Given the description of an element on the screen output the (x, y) to click on. 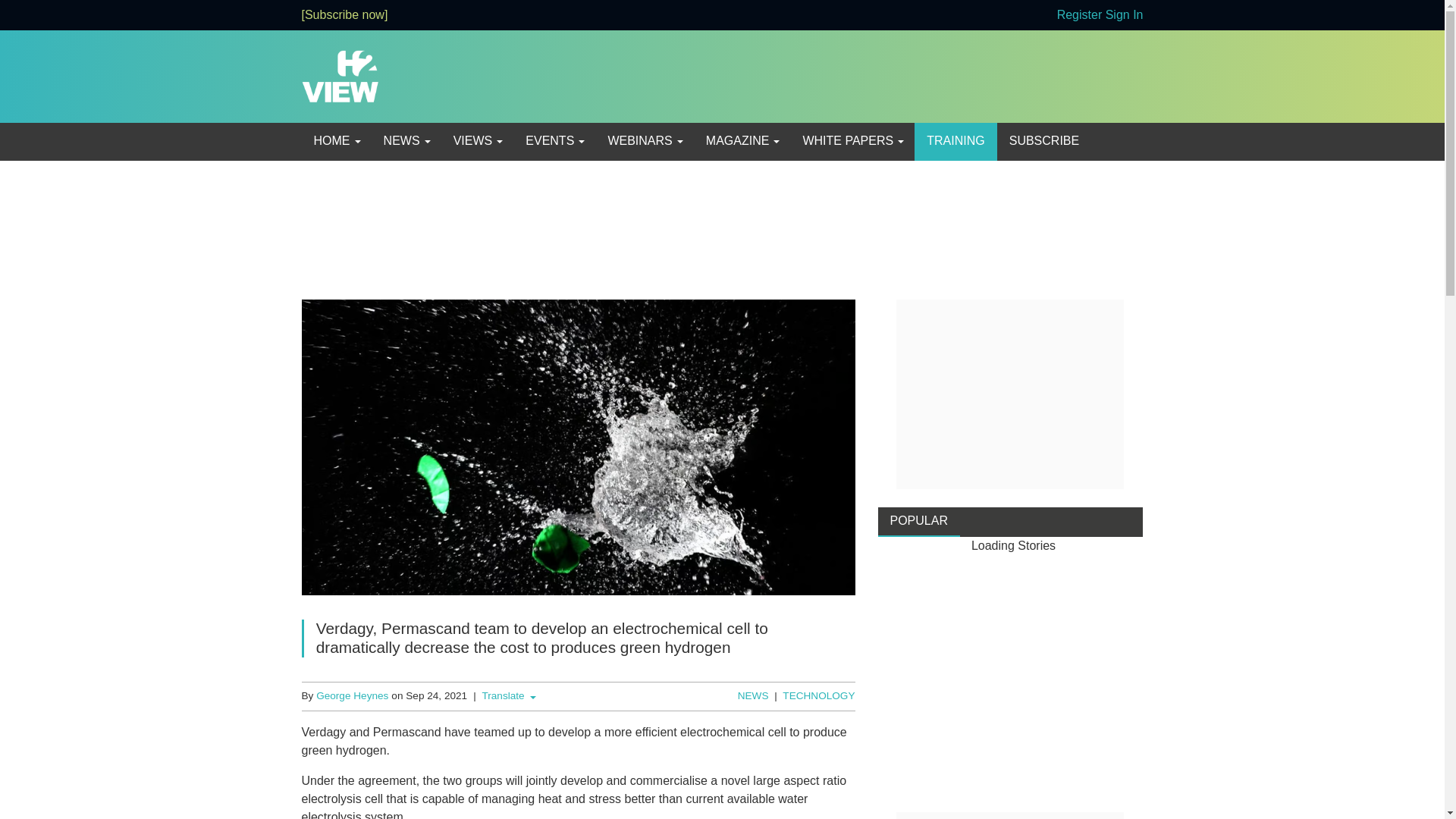
Sign in now (1123, 14)
Become a member today (344, 14)
Home (336, 140)
NEWS (406, 140)
Register (1079, 14)
HOME (336, 140)
News (406, 140)
Sign In (1123, 14)
Register now (1079, 14)
H2 View (339, 74)
